Given the description of an element on the screen output the (x, y) to click on. 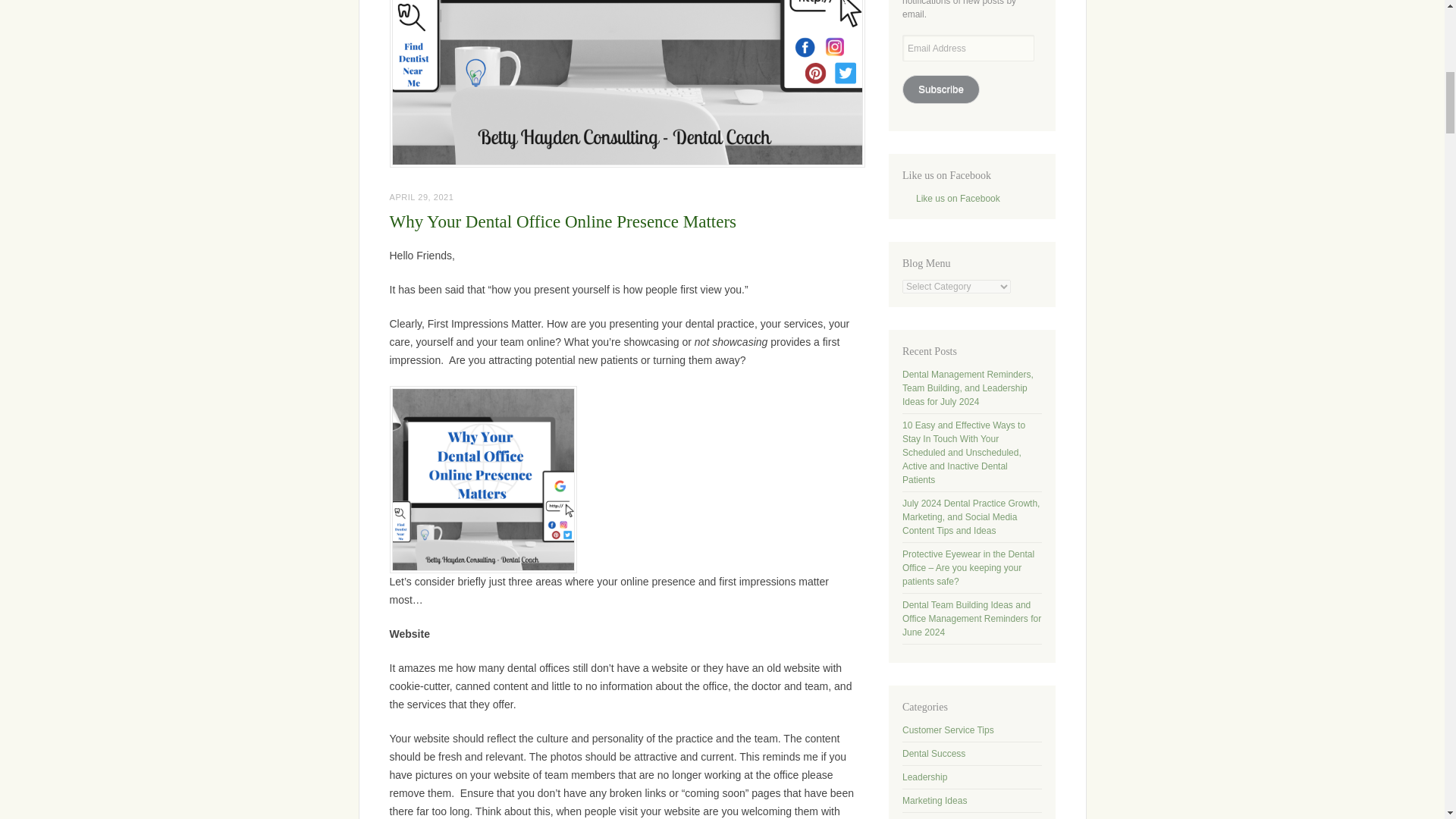
Why Your Dental Office Online Presence Matters (627, 83)
APRIL 29, 2021 (422, 196)
Why Your Dental Office Online Presence Matters (563, 221)
1:07 pm (422, 196)
